Given the description of an element on the screen output the (x, y) to click on. 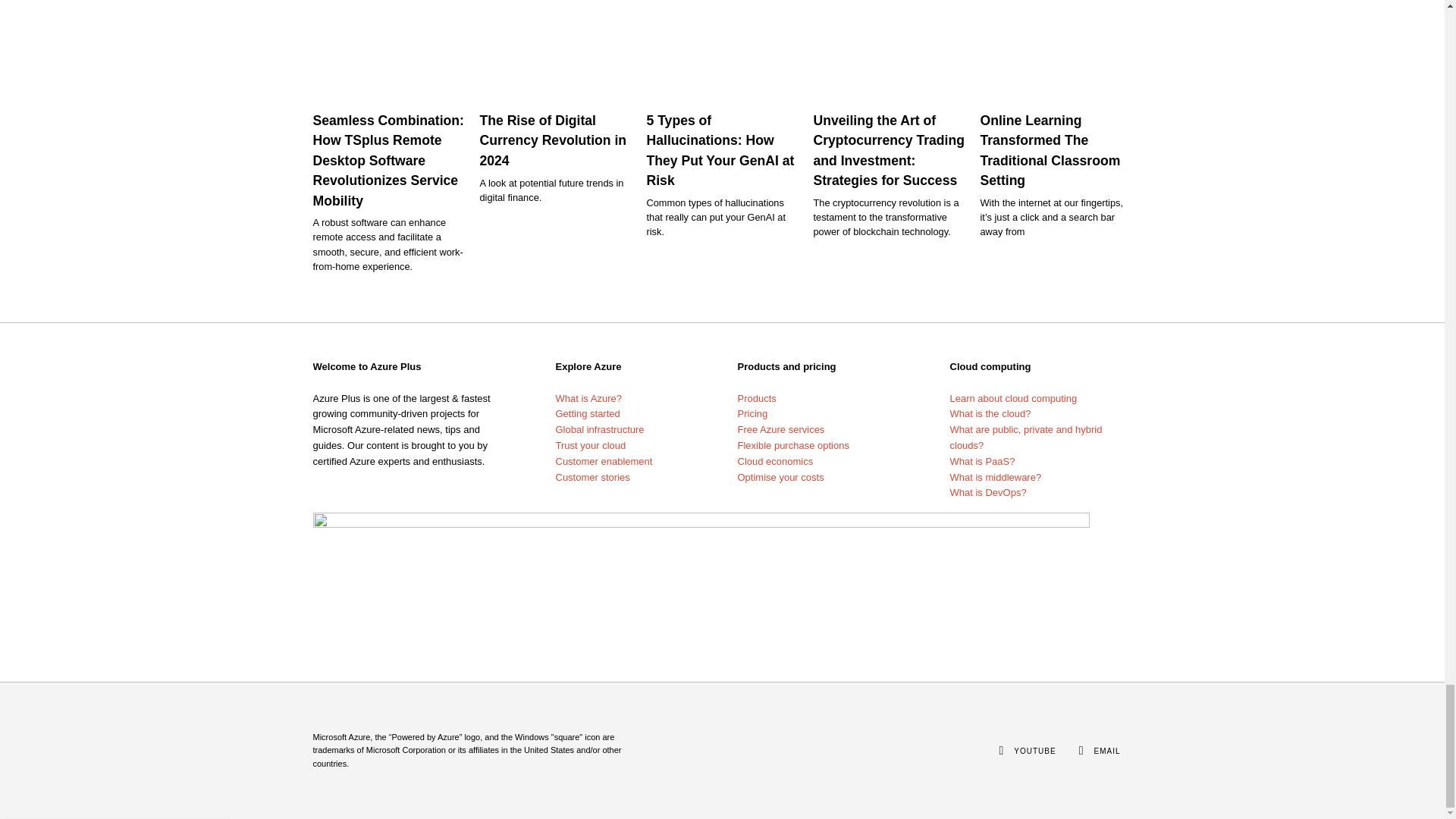
Email (1106, 750)
YouTube (1034, 750)
